Given the description of an element on the screen output the (x, y) to click on. 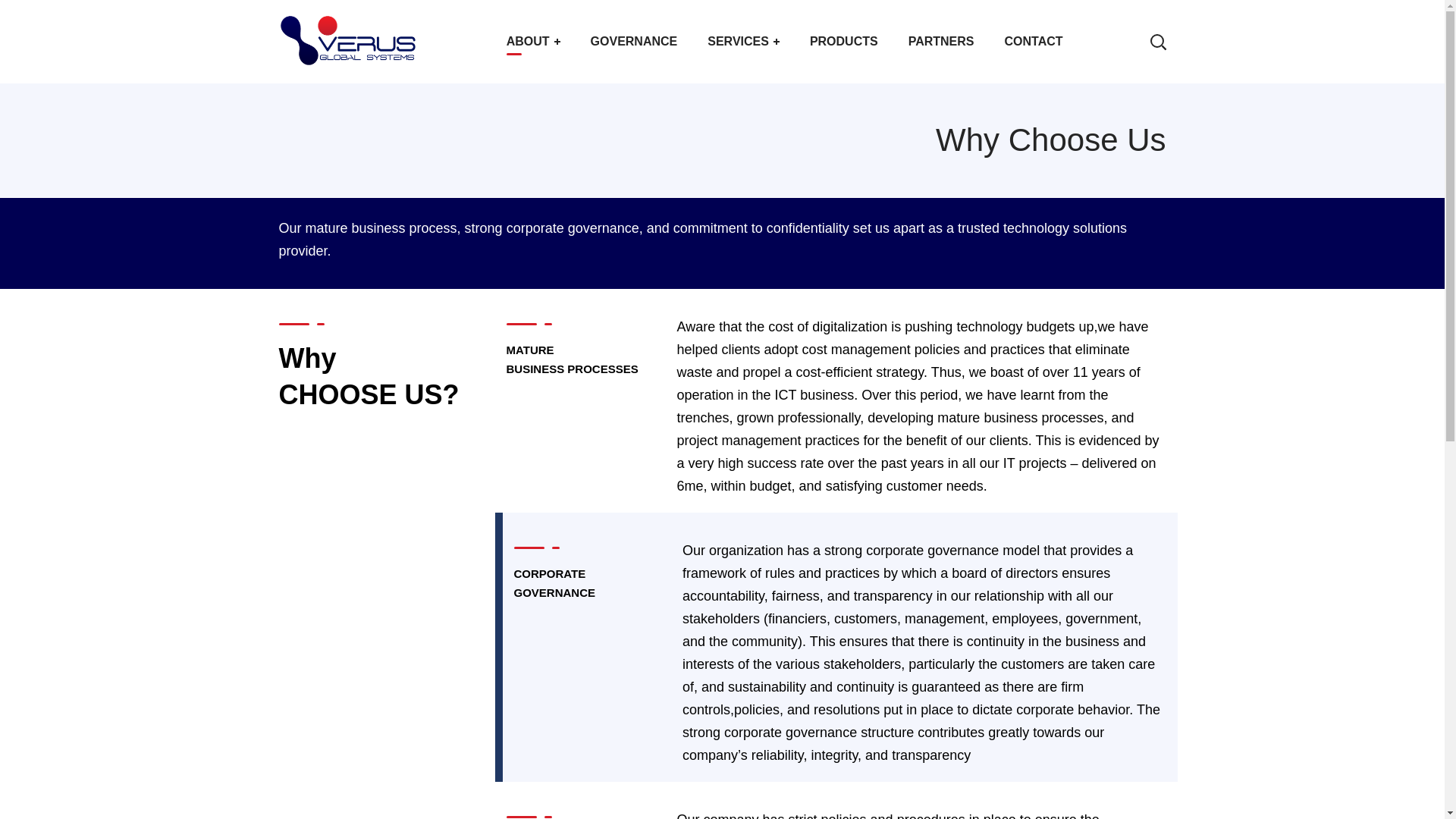
Search (1110, 113)
CONTACT (1032, 41)
PRODUCTS (843, 41)
SERVICES (743, 41)
GOVERNANCE (634, 41)
PARTNERS (941, 41)
ABOUT (533, 41)
